Given the description of an element on the screen output the (x, y) to click on. 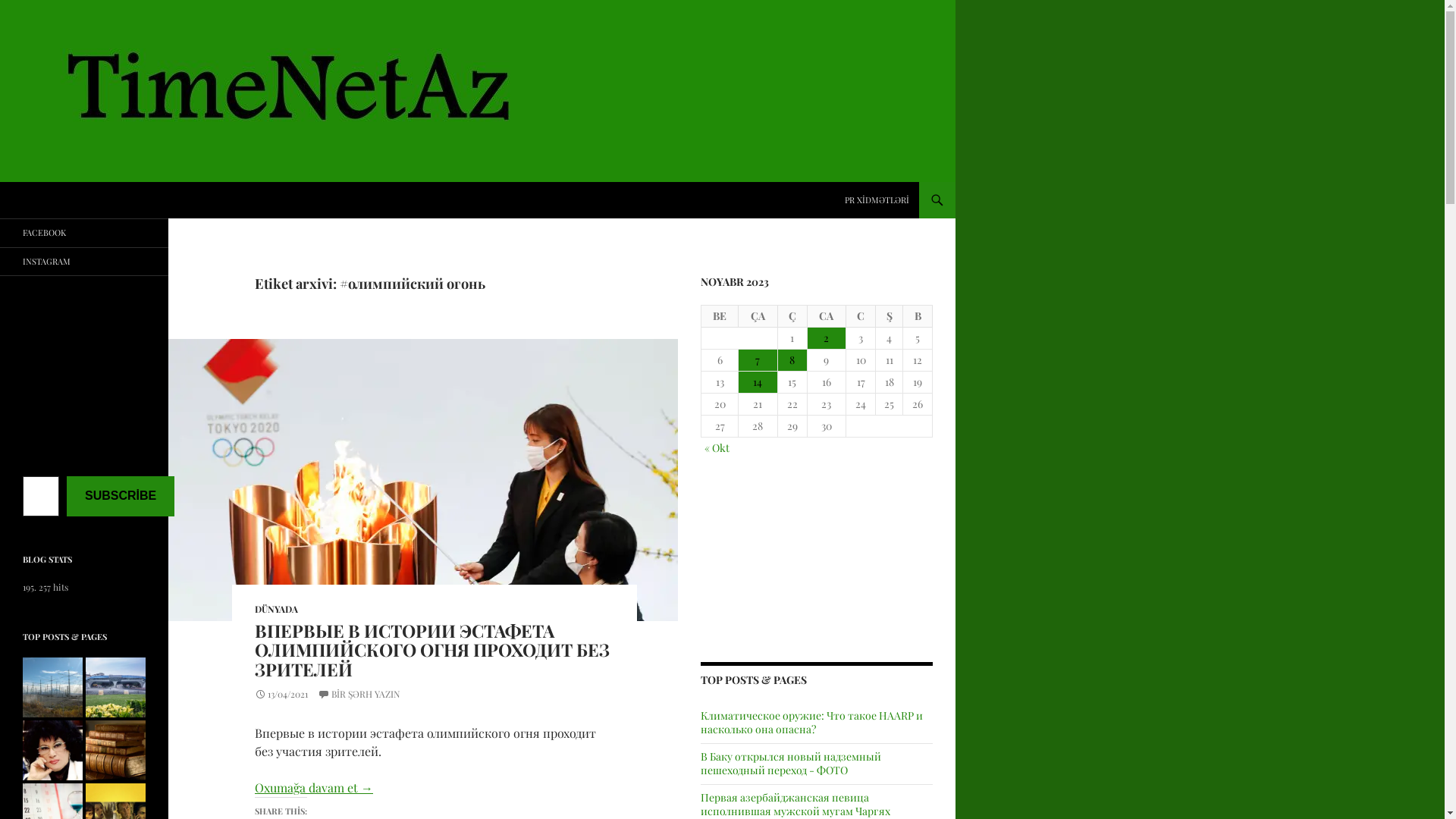
SUBSCRIBE Element type: text (120, 496)
Axtar Element type: text (3, 181)
2 Element type: text (826, 337)
13/04/2021 Element type: text (280, 693)
14 Element type: text (757, 381)
FACEBOOK Element type: text (84, 233)
7 Element type: text (757, 359)
8 Element type: text (792, 359)
INSTAGRAM Element type: text (84, 261)
Time.Net.Az Element type: text (48, 200)
